Given the description of an element on the screen output the (x, y) to click on. 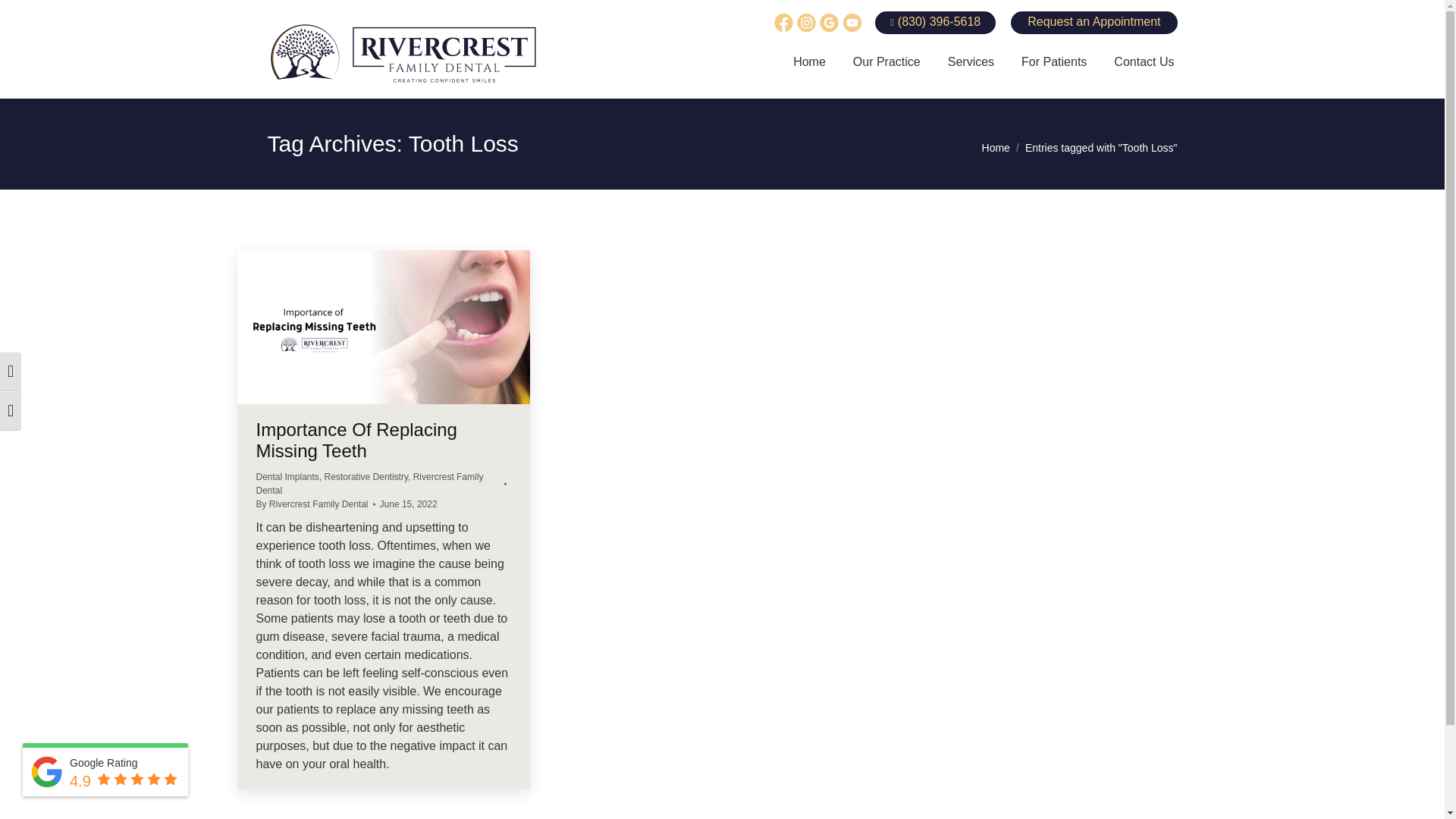
Our Practice (886, 61)
Home (809, 61)
For Patients (1053, 61)
Services (970, 61)
Contact Us (1143, 61)
Request an Appointment (1093, 22)
